Given the description of an element on the screen output the (x, y) to click on. 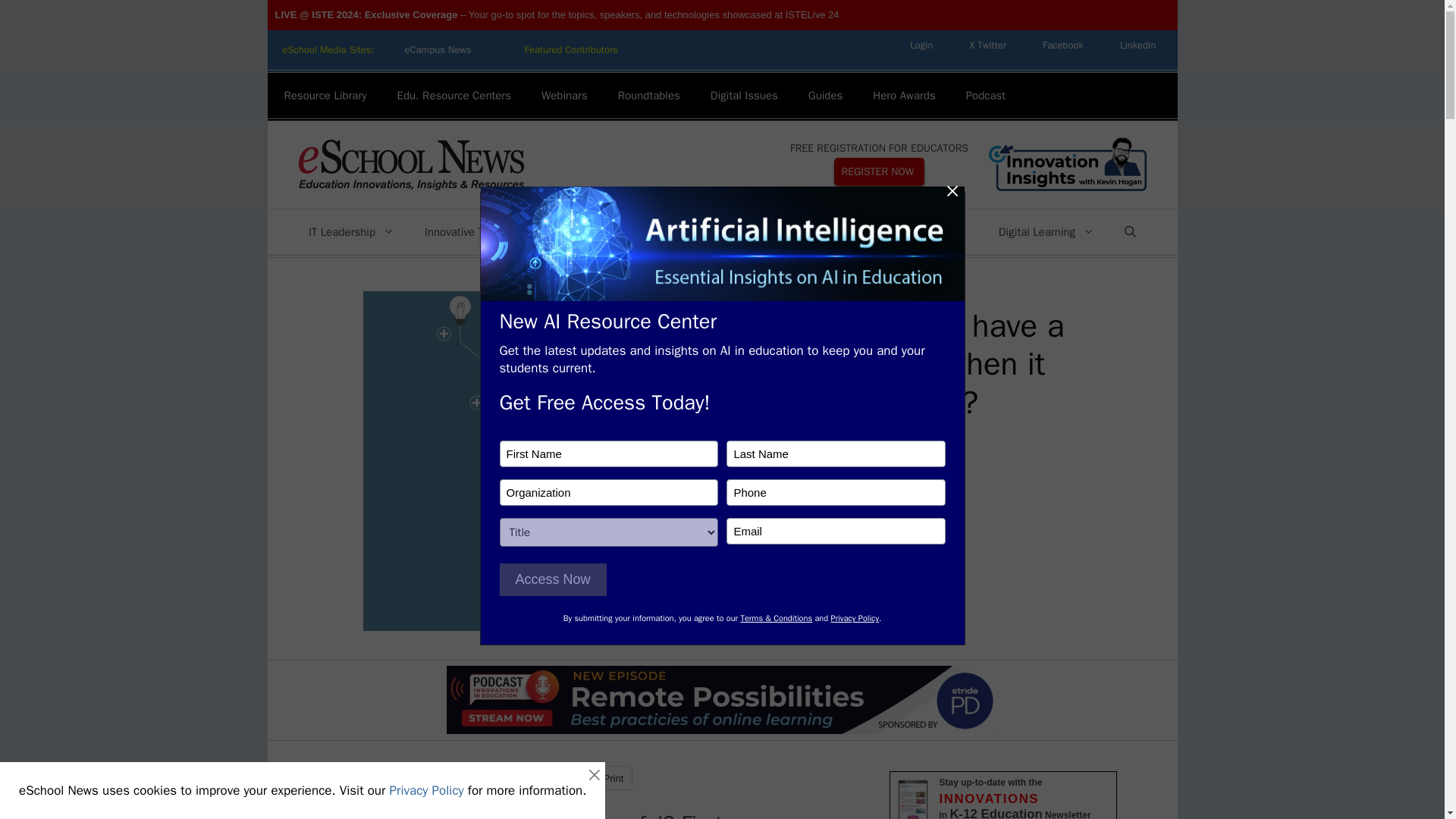
Facebook (1063, 45)
Featured Contributors (571, 50)
eCampus News (437, 50)
X Twitter (987, 45)
Digital Issues (744, 94)
LinkedIn (1138, 45)
eSchool News (410, 163)
Edu. Resource Centers (453, 94)
LinkedIn (1138, 45)
Facebook (1063, 45)
Access Now (552, 579)
Podcast (985, 94)
Webinars (563, 94)
eSchool News (410, 164)
eCampus News (437, 50)
